Given the description of an element on the screen output the (x, y) to click on. 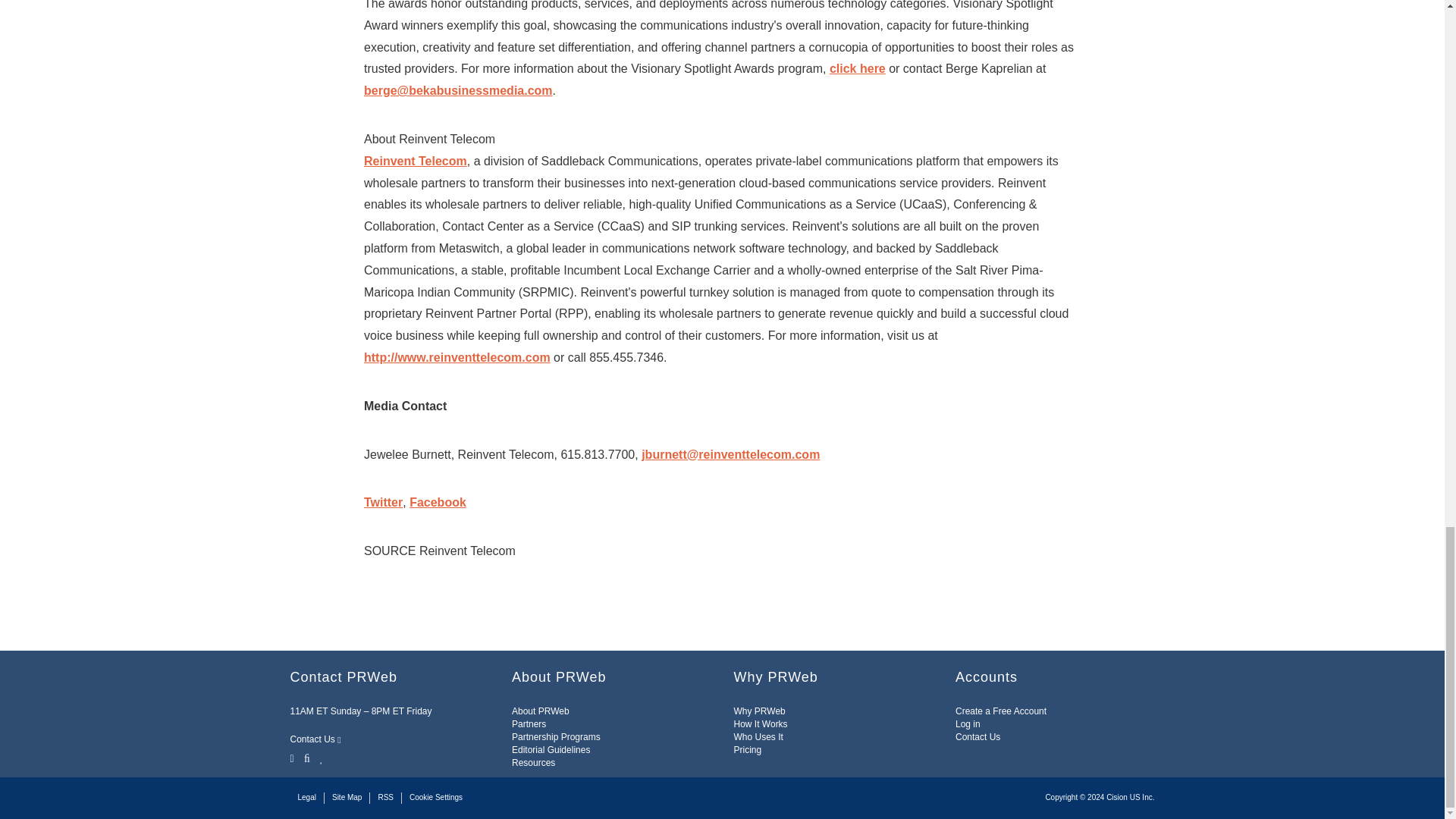
Editorial Guidelines (550, 749)
How It Works (760, 724)
Resources (533, 762)
Partners (529, 724)
Facebook (306, 757)
Partnership Programs (555, 737)
Why PRWeb (759, 710)
About PRWeb (540, 710)
